Given the description of an element on the screen output the (x, y) to click on. 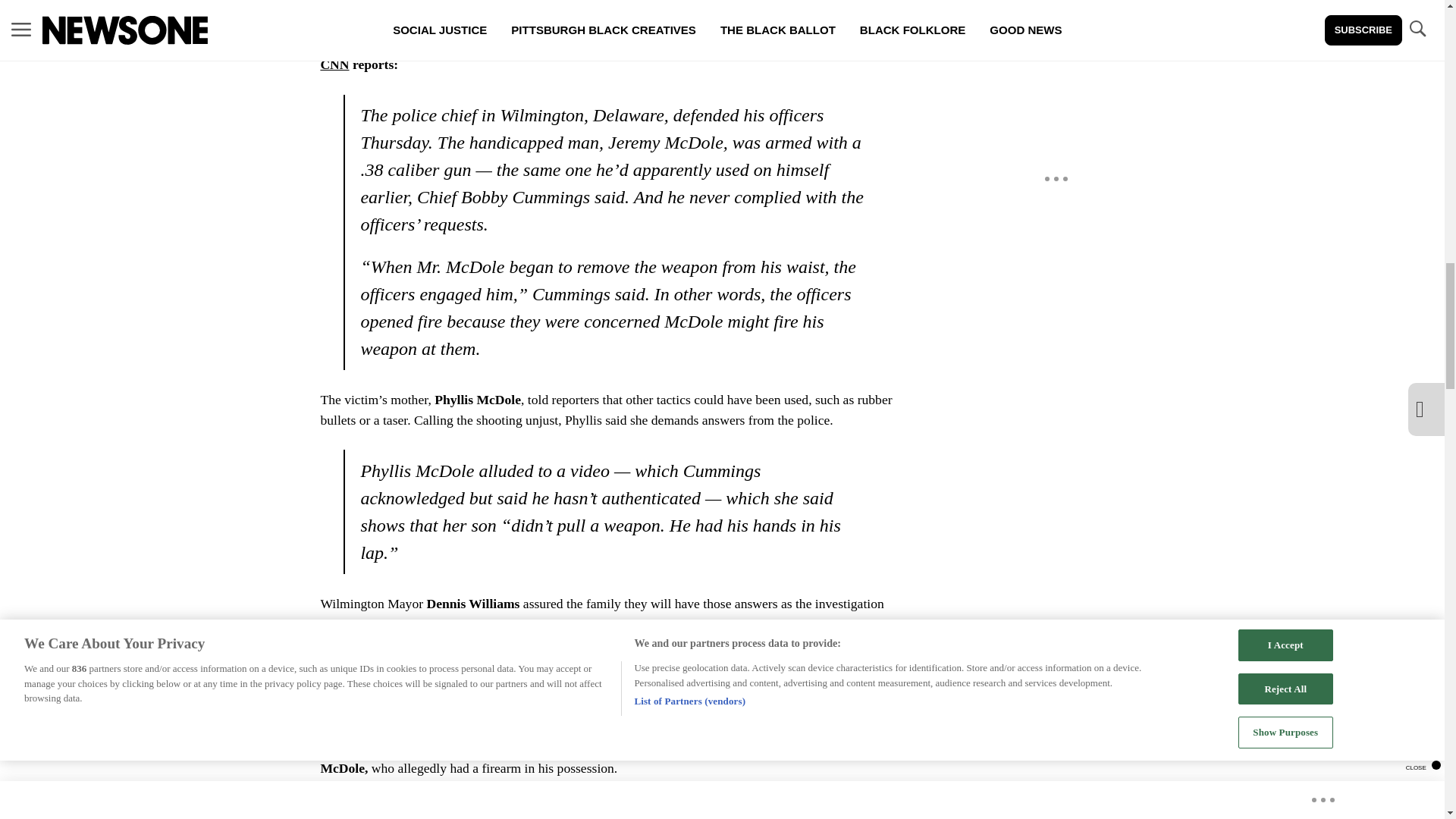
CNN (398, 701)
CNN (334, 64)
